Given the description of an element on the screen output the (x, y) to click on. 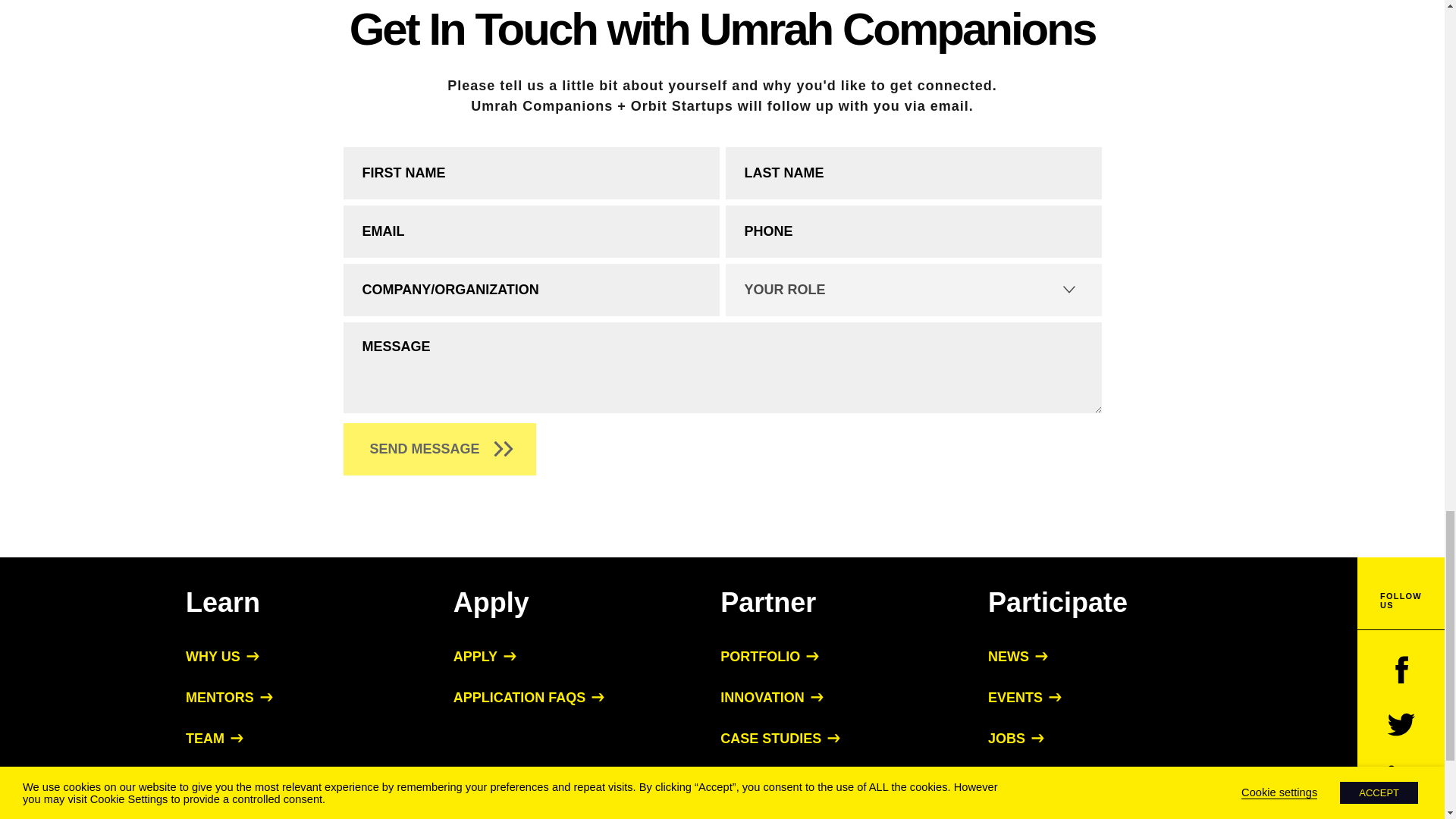
TEAM (214, 738)
Learn (223, 602)
MENTORS (229, 697)
SEND MESSAGE (438, 449)
WHY US (222, 656)
